Given the description of an element on the screen output the (x, y) to click on. 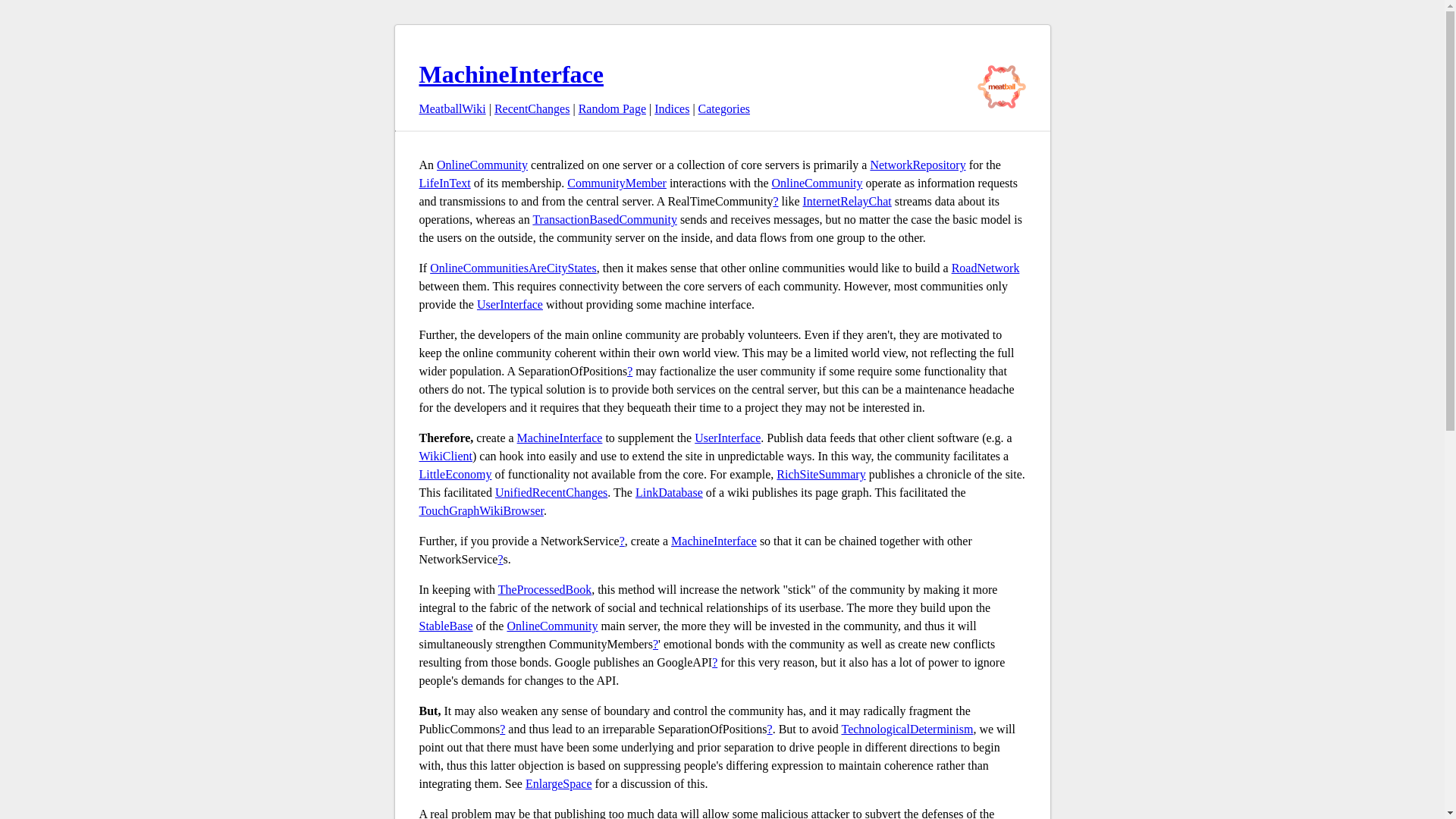
MachineInterface (714, 540)
UserInterface (727, 437)
TheProcessedBook (544, 589)
TechnologicalDeterminism (906, 728)
OnlineCommunity (481, 164)
WikiClient (445, 455)
MeatballWiki (451, 108)
InternetRelayChat (847, 201)
RichSiteSummary (820, 473)
Random Page (612, 108)
